Given the description of an element on the screen output the (x, y) to click on. 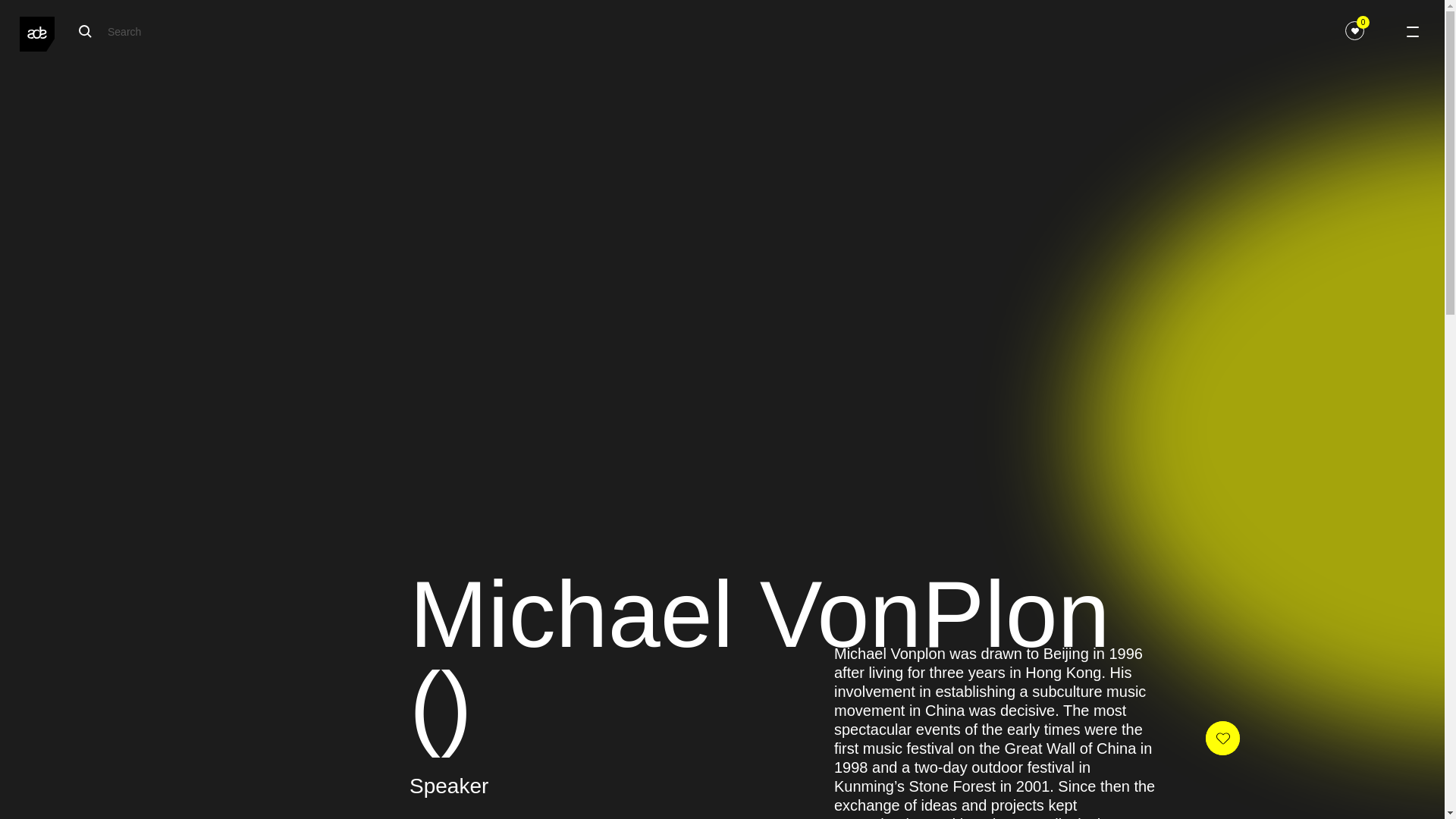
0 (1354, 30)
Search (291, 31)
